Given the description of an element on the screen output the (x, y) to click on. 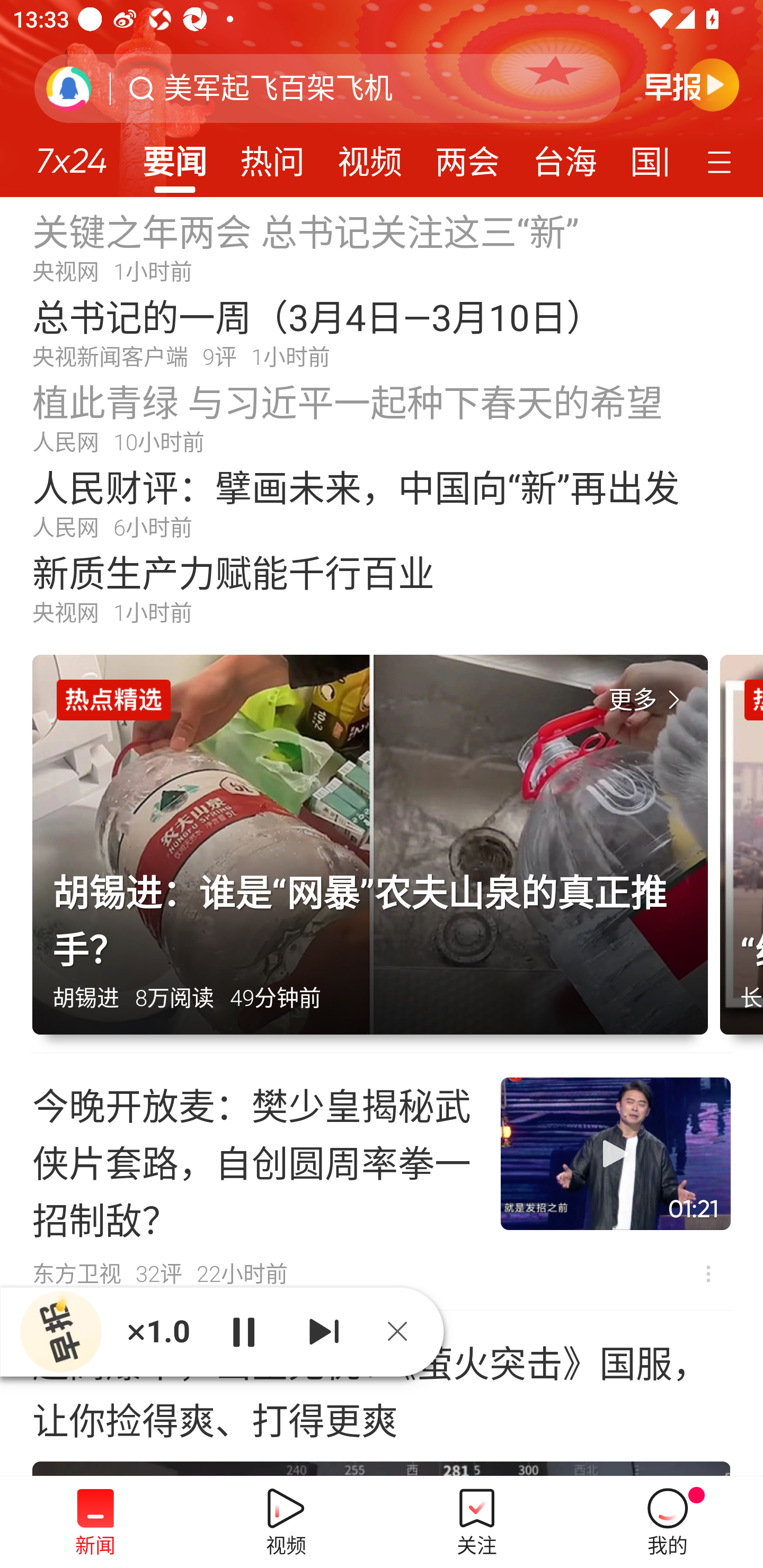
腾讯新闻 (381, 98)
早晚报 (691, 84)
刷新 (68, 88)
美军起飞百架飞机 (278, 88)
7x24 (70, 154)
要闻 (174, 155)
热问 (272, 155)
视频 (369, 155)
两会 (466, 155)
台海 (564, 155)
 定制频道 (721, 160)
关键之年两会 总书记关注这三“新” 央视网 1小时前 (381, 245)
总书记的一周（3月4日—3月10日） 央视新闻客户端 9评 1小时前 (381, 331)
植此青绿 与习近平一起种下春天的希望 人民网 10小时前 (381, 416)
人民财评：擘画未来，中国向“新”再出发 人民网 6小时前 (381, 502)
新质生产力赋能千行百业 央视网 1小时前 (381, 587)
更多  胡锡进：谁是“网暴”农夫山泉的真正推手？ 胡锡进   8万阅读   49分钟前 (376, 853)
更多  (648, 699)
 不感兴趣 (707, 1273)
 播放 (242, 1330)
 下一个 (323, 1330)
播放器 (60, 1331)
 关闭 (404, 1330)
 1.0 (157, 1330)
